Given the description of an element on the screen output the (x, y) to click on. 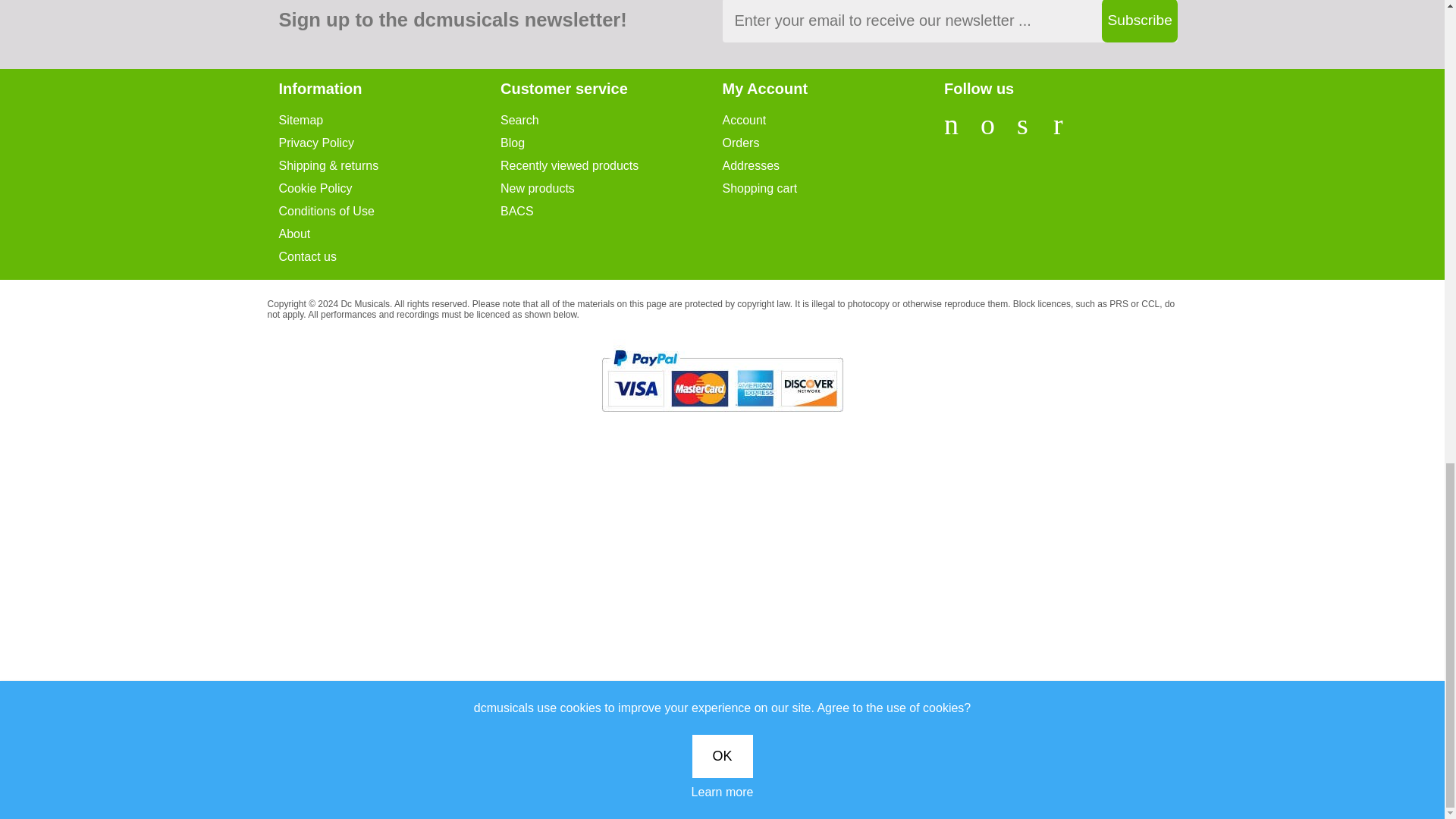
New products (611, 188)
Cookie Policy (389, 188)
Conditions of Use (389, 211)
Blog (611, 142)
Recently viewed products (611, 165)
BACS (611, 211)
Search (611, 120)
Subscribe (1138, 21)
Orders (832, 142)
Contact us (389, 256)
About (389, 233)
How PayPal Works (722, 379)
Addresses (832, 165)
Sitemap (389, 120)
Shopping cart (832, 188)
